Given the description of an element on the screen output the (x, y) to click on. 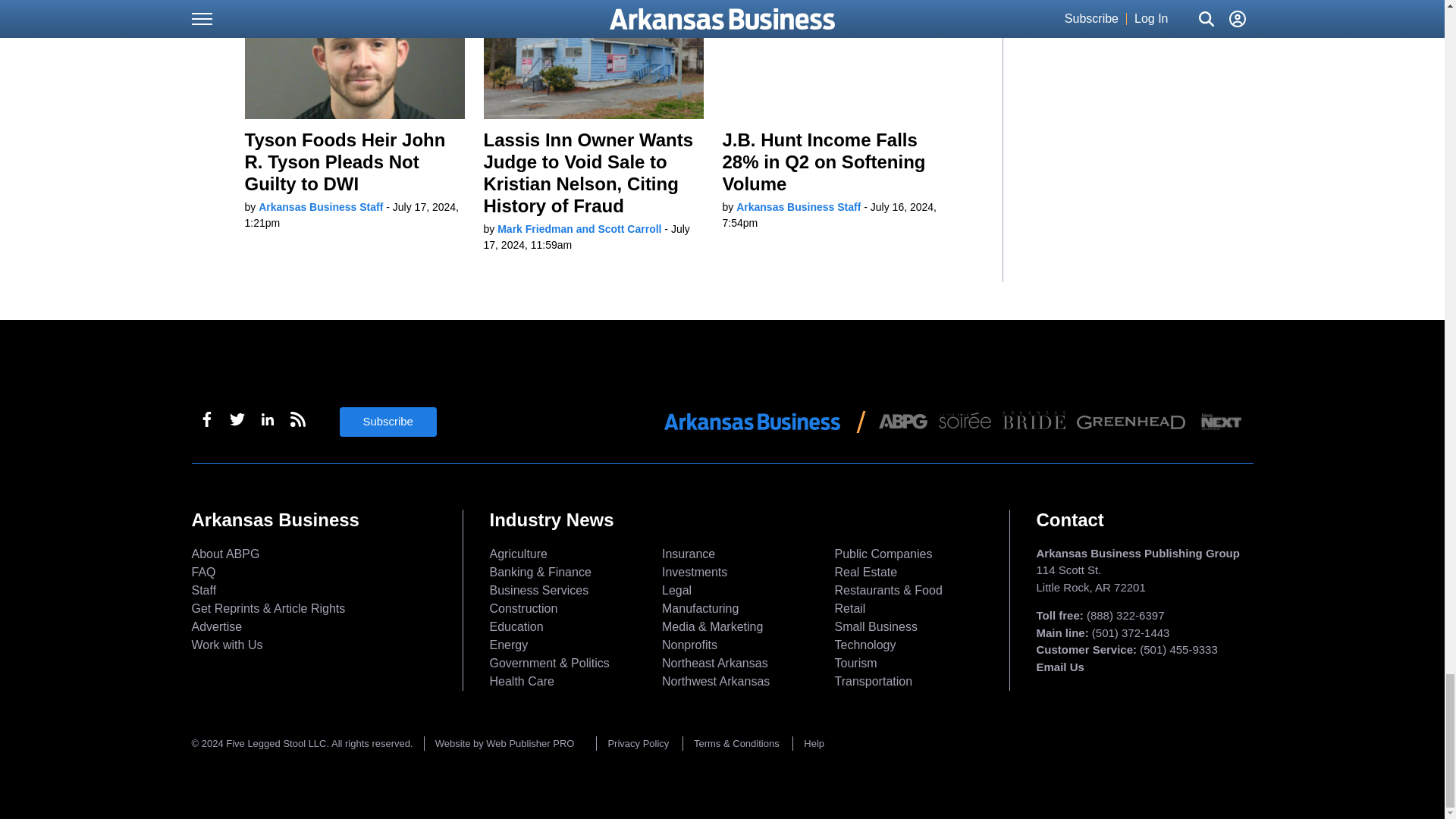
Posts by Mark Friedman and Scott Carroll (579, 228)
Posts by Arkansas Business Staff (798, 206)
Posts by Arkansas Business Staff (320, 206)
